Given the description of an element on the screen output the (x, y) to click on. 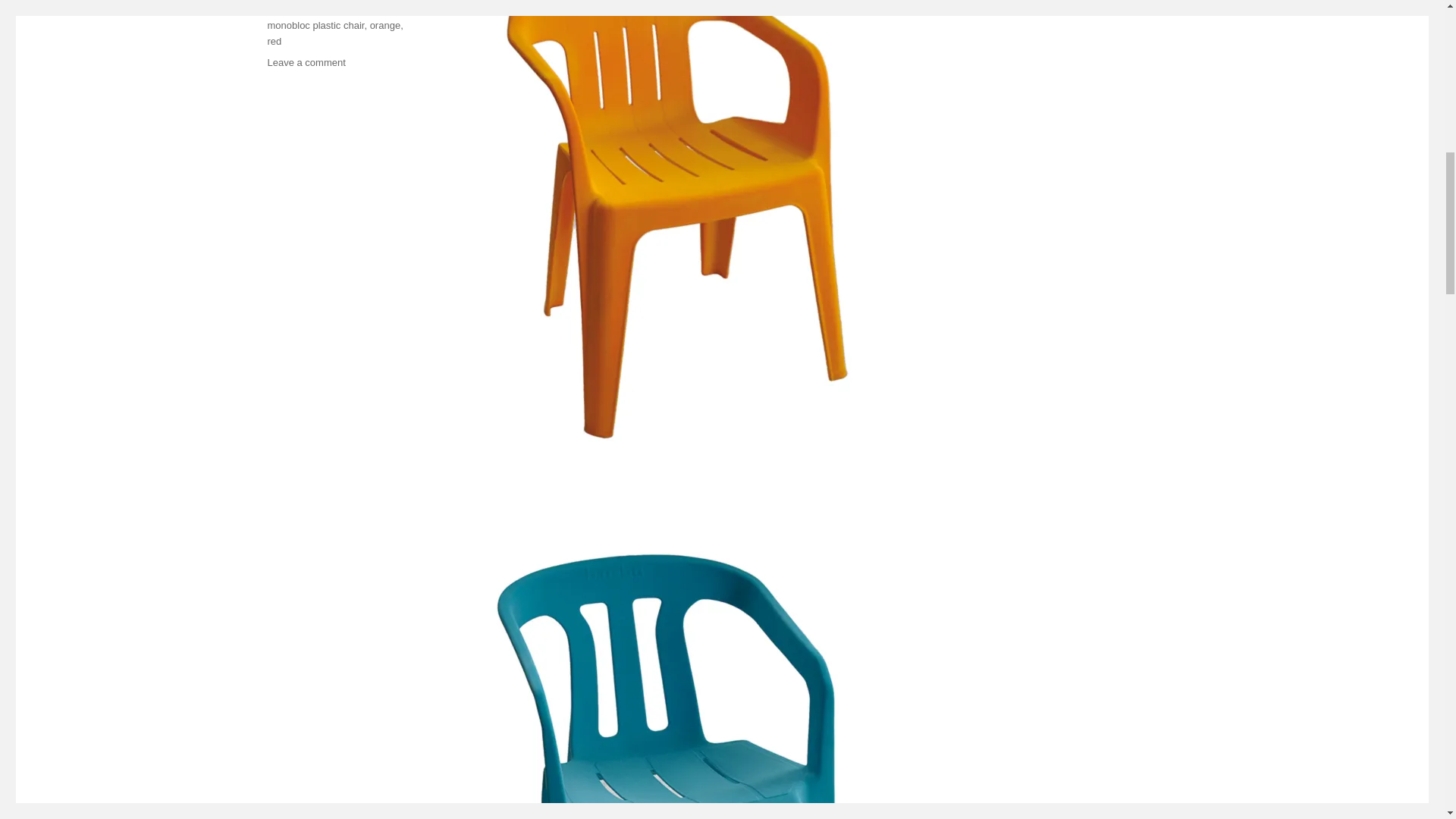
Cyrille Candas (298, 9)
grey (376, 9)
orange (384, 25)
monobloc plastic chair (315, 25)
green (348, 9)
red (273, 41)
